Given the description of an element on the screen output the (x, y) to click on. 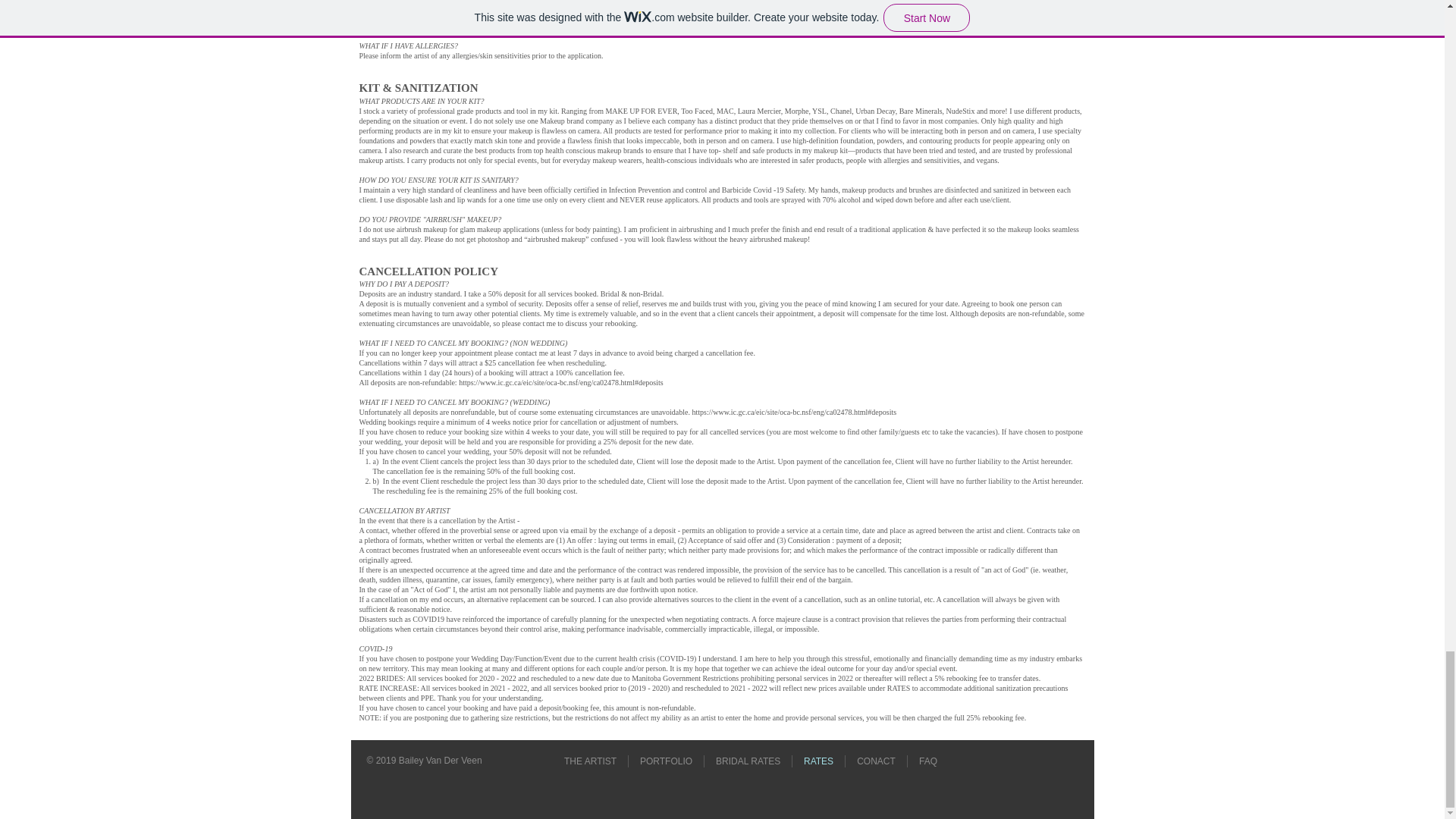
THE ARTIST (590, 761)
BRIDAL RATES (748, 761)
CONACT (876, 761)
FAQ (928, 761)
RATES (818, 761)
PORTFOLIO (665, 761)
